Given the description of an element on the screen output the (x, y) to click on. 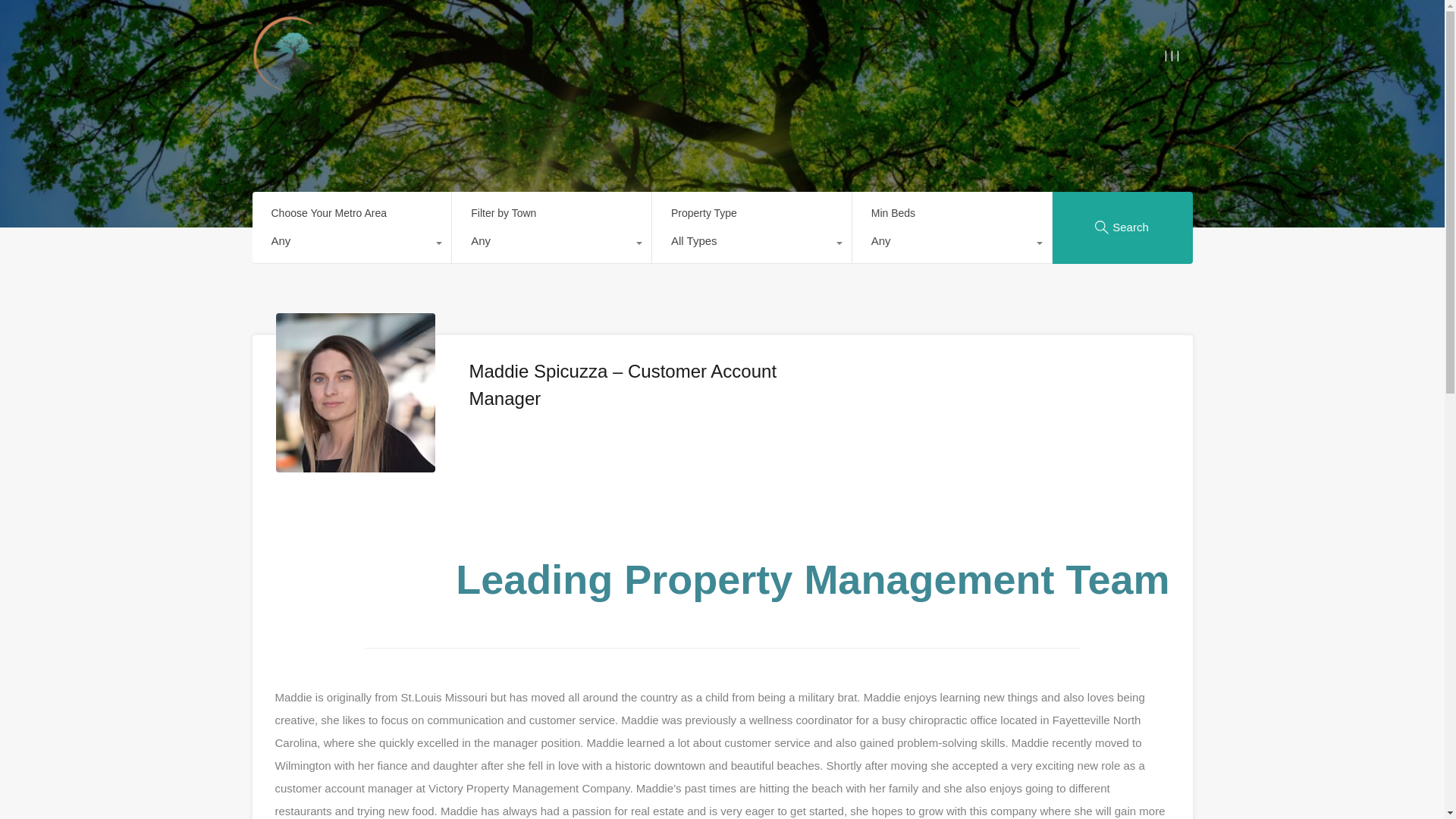
Any (550, 244)
Search (1121, 226)
Any (951, 244)
All Types (751, 244)
Any (351, 244)
Any (550, 244)
All Types (751, 244)
Any (351, 244)
Any (951, 244)
